Given the description of an element on the screen output the (x, y) to click on. 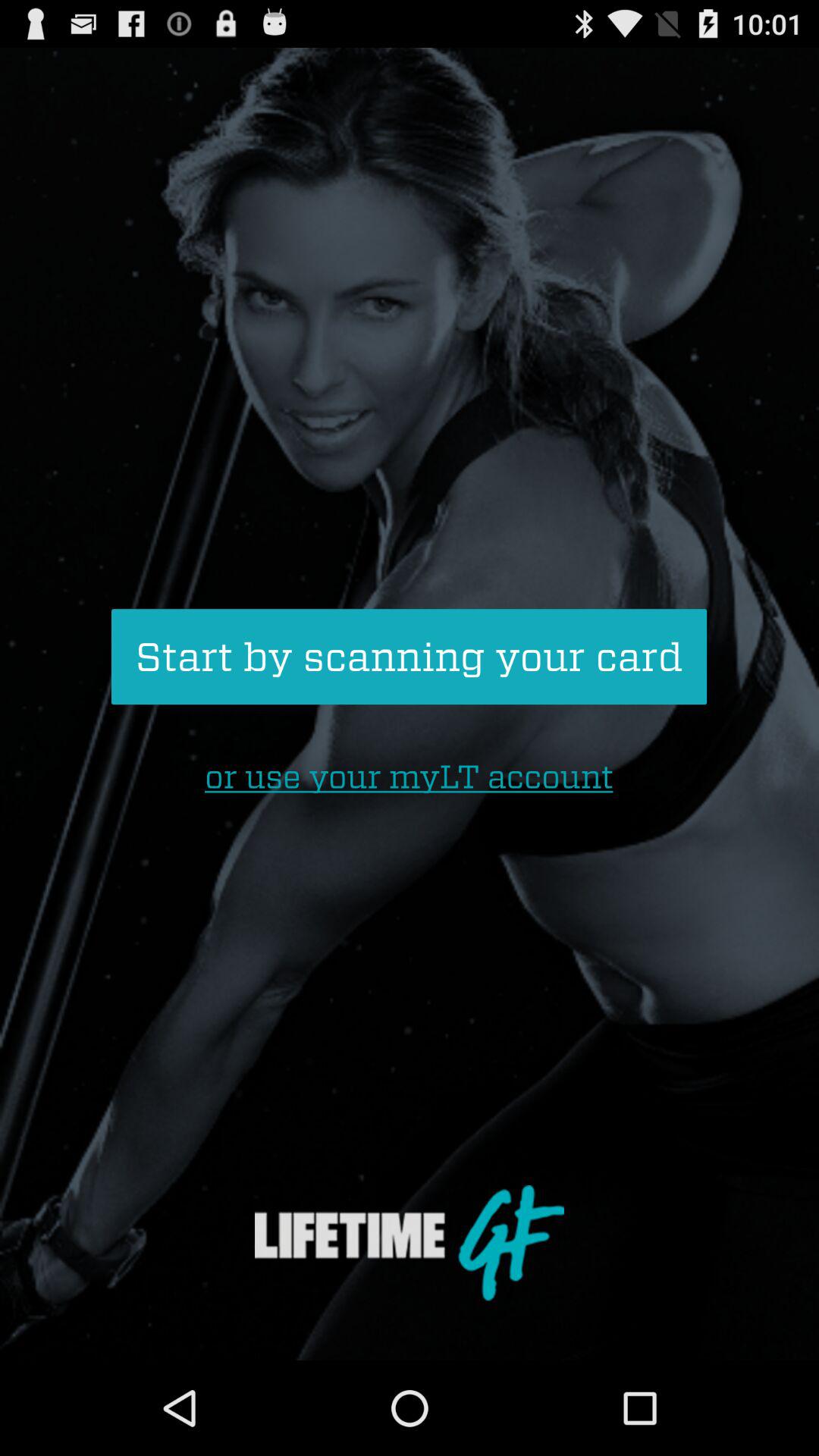
turn off the start by scanning item (408, 656)
